Given the description of an element on the screen output the (x, y) to click on. 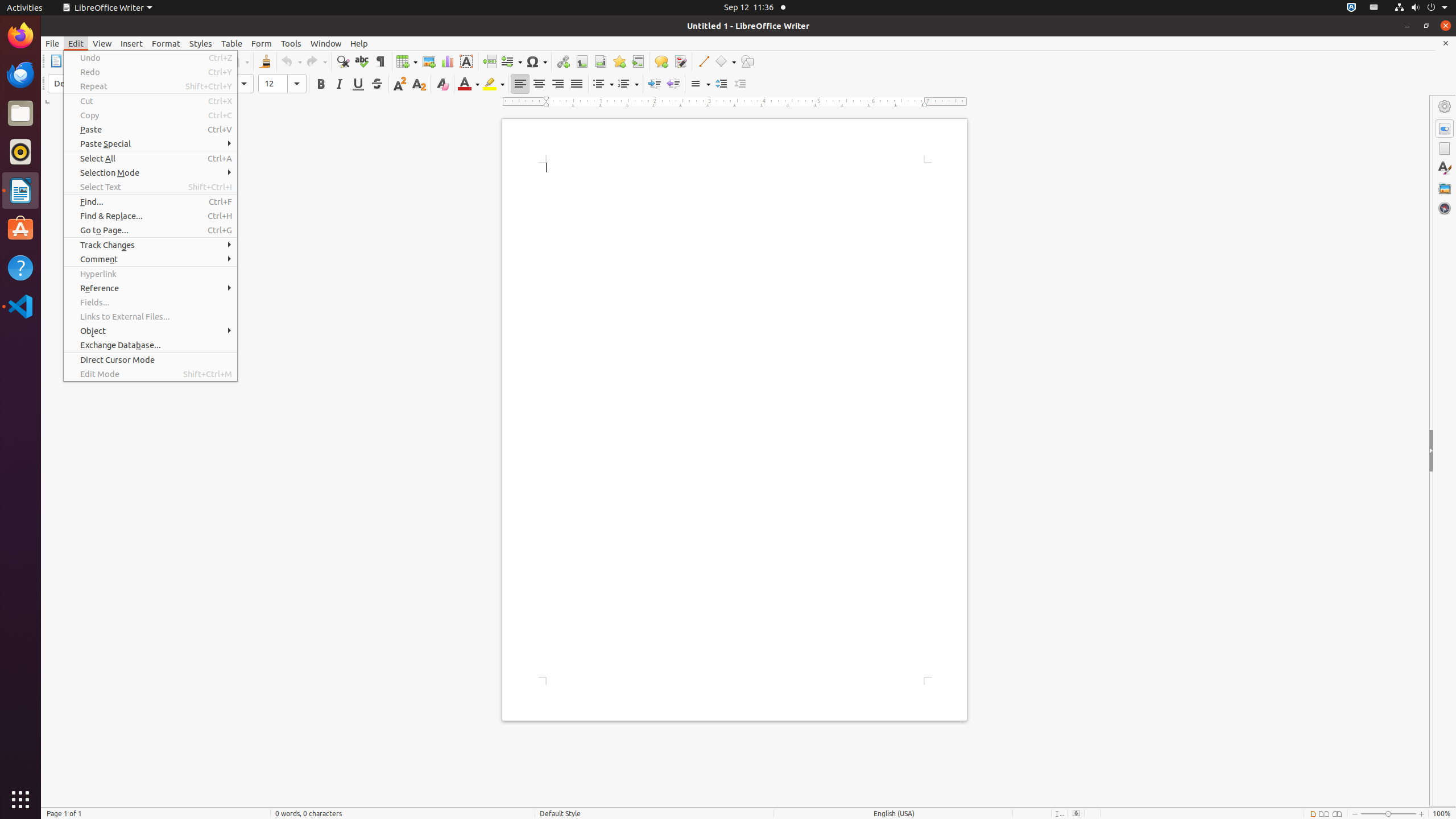
Find... Element type: menu-item (150, 201)
Bookmark Element type: push-button (618, 61)
Comment Element type: push-button (660, 61)
Formatting Marks Element type: toggle-button (379, 61)
Spelling Element type: push-button (361, 61)
